Given the description of an element on the screen output the (x, y) to click on. 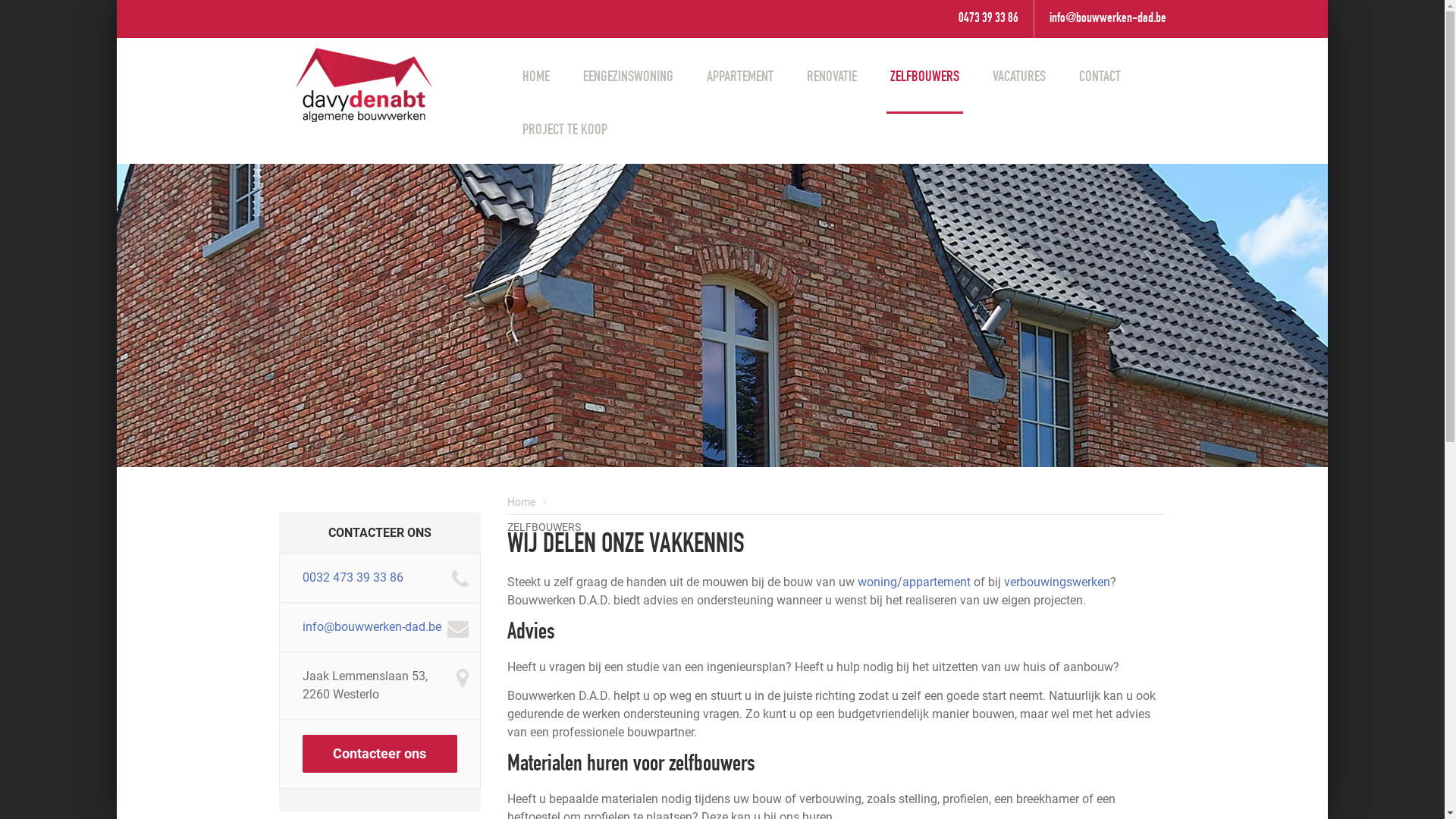
EENGEZINSWONING Element type: text (627, 76)
woning Element type: text (877, 581)
0032 473 39 33 86 Element type: text (351, 577)
ZELFBOUWERS Element type: text (543, 526)
ZELFBOUWERS Element type: text (924, 76)
Home Element type: text (521, 501)
HOME Element type: text (535, 76)
info@bouwwerken-dad.be Element type: text (1107, 18)
0473 39 33 86 Element type: text (988, 18)
PROJECT TE KOOP Element type: text (564, 129)
info@bouwwerken-dad.be Element type: text (370, 626)
verbouwingswerken Element type: text (1057, 581)
APPARTEMENT Element type: text (739, 76)
CONTACT Element type: text (1099, 76)
appartement Element type: text (936, 581)
RENOVATIE Element type: text (831, 76)
Contacteer ons Element type: text (378, 753)
VACATURES Element type: text (1018, 76)
